Given the description of an element on the screen output the (x, y) to click on. 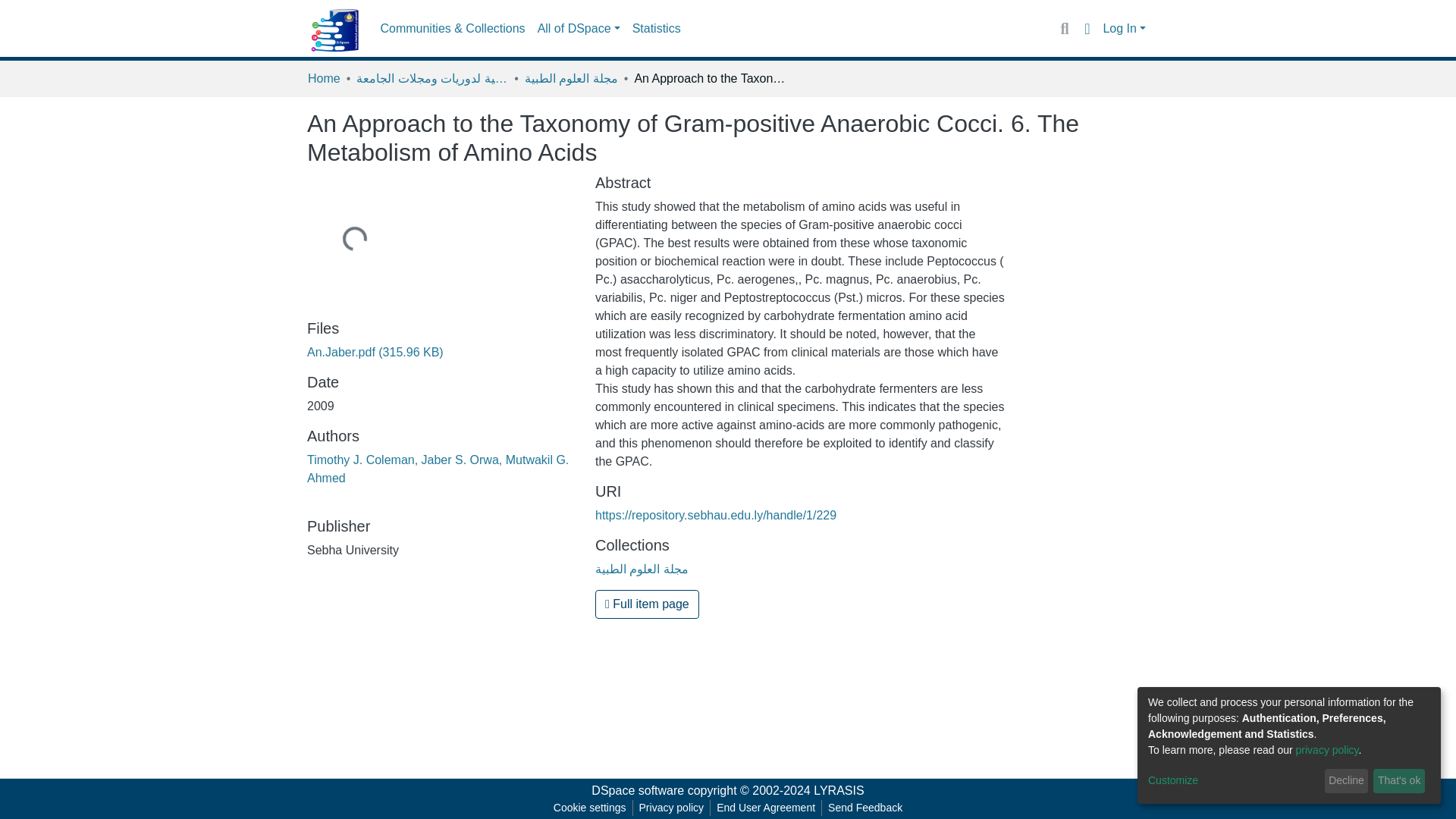
Statistics (656, 28)
Cookie settings (589, 807)
DSpace software (637, 789)
End User Agreement (765, 807)
Send Feedback (865, 807)
Language switch (1086, 28)
Home (323, 78)
All of DSpace (578, 28)
privacy policy (1326, 749)
That's ok (1399, 781)
Full item page (646, 604)
Statistics (656, 28)
Timothy J. Coleman, Jaber S. Orwa, Mutwakil G. Ahmed (438, 468)
Search (1064, 28)
LYRASIS (838, 789)
